Given the description of an element on the screen output the (x, y) to click on. 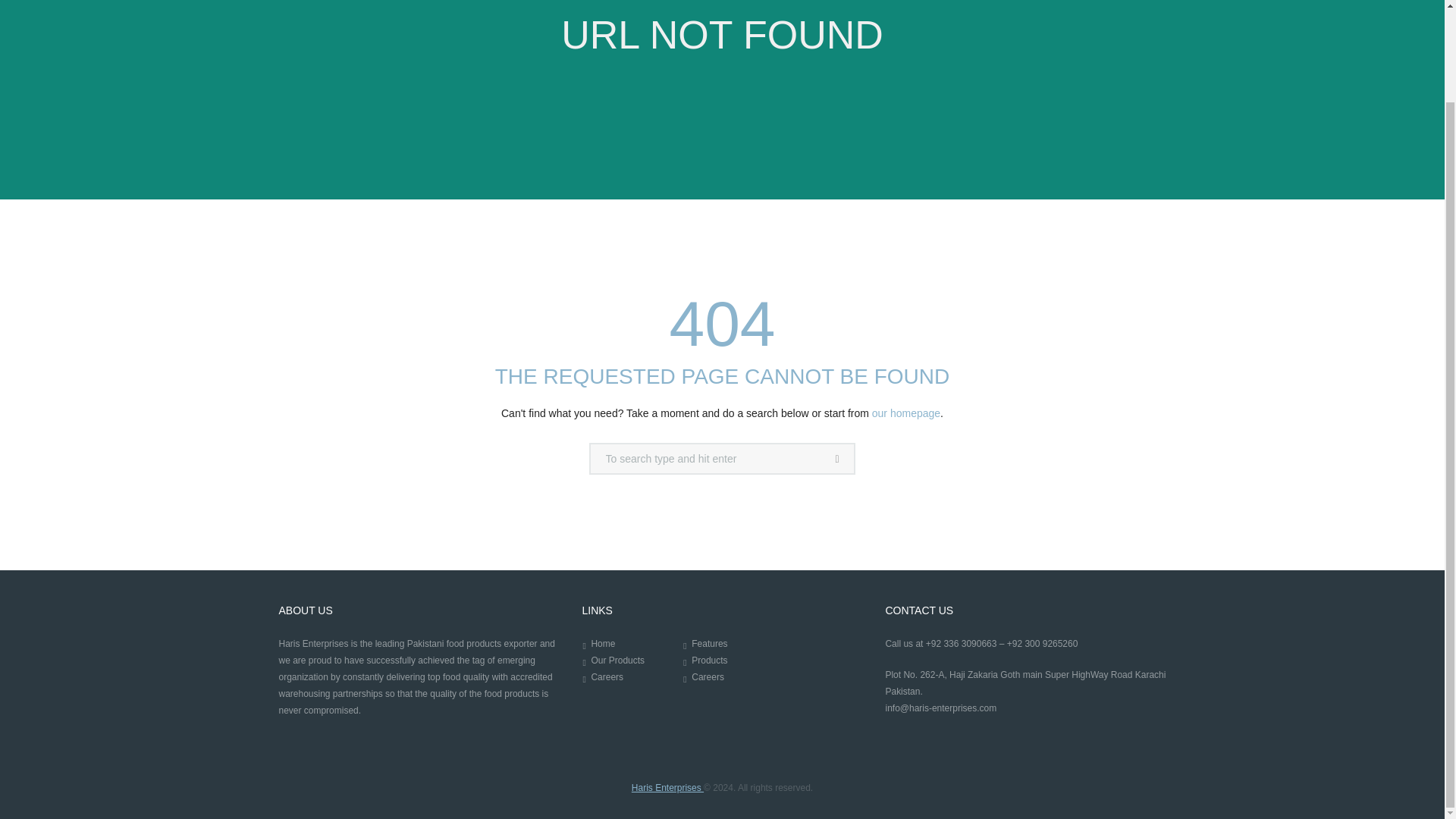
our homepage (906, 413)
Features (708, 643)
Our Products (618, 660)
Haris Enterprises (667, 787)
Home (602, 643)
Careers (707, 676)
Products (708, 660)
Careers (607, 676)
Start search (839, 459)
